Given the description of an element on the screen output the (x, y) to click on. 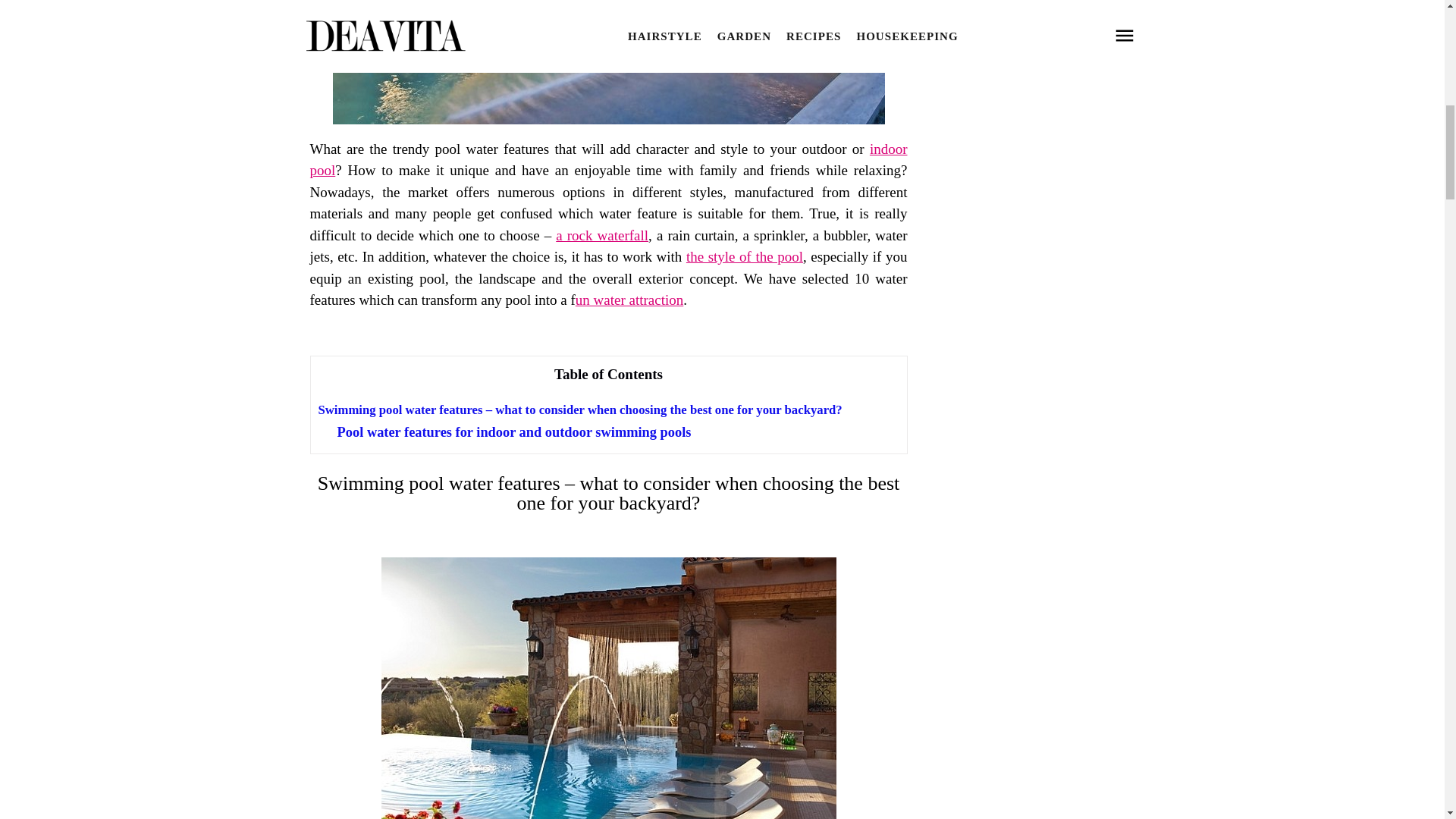
swimming pool water curtain amazing swimming pools designs (607, 62)
trendy water features for pools water curtain and deck jets (607, 688)
Swimming pool water curtain amazing swimming pools (607, 119)
